Given the description of an element on the screen output the (x, y) to click on. 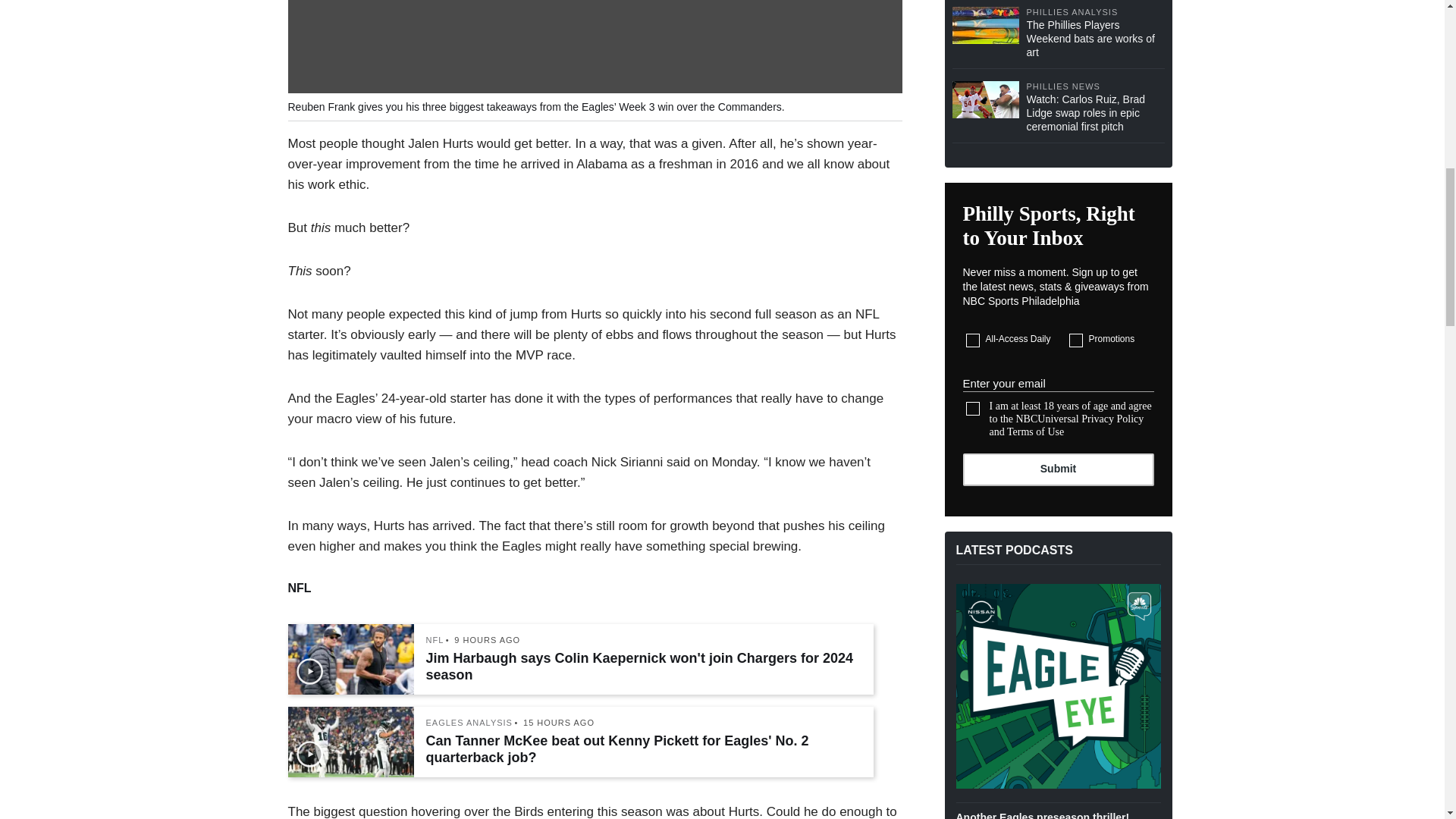
on (972, 408)
NFL (435, 640)
on (1075, 340)
EAGLES ANALYSIS (469, 722)
on (972, 340)
